Given the description of an element on the screen output the (x, y) to click on. 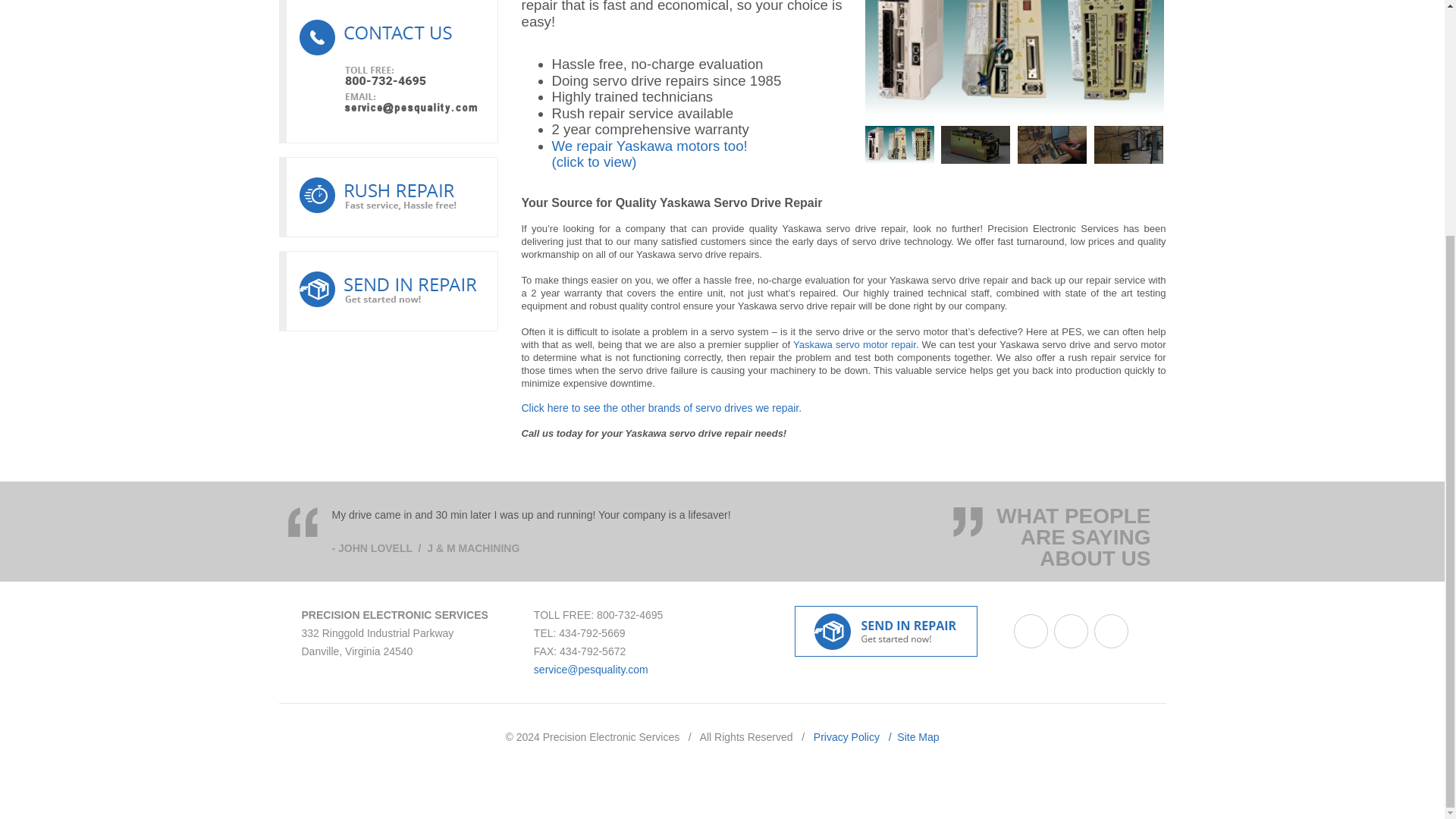
Send In Repair (388, 290)
Youtube (1111, 631)
Contact Us (388, 71)
Facebook (1030, 631)
Linkedin (1070, 631)
Rush Repair (388, 197)
